Given the description of an element on the screen output the (x, y) to click on. 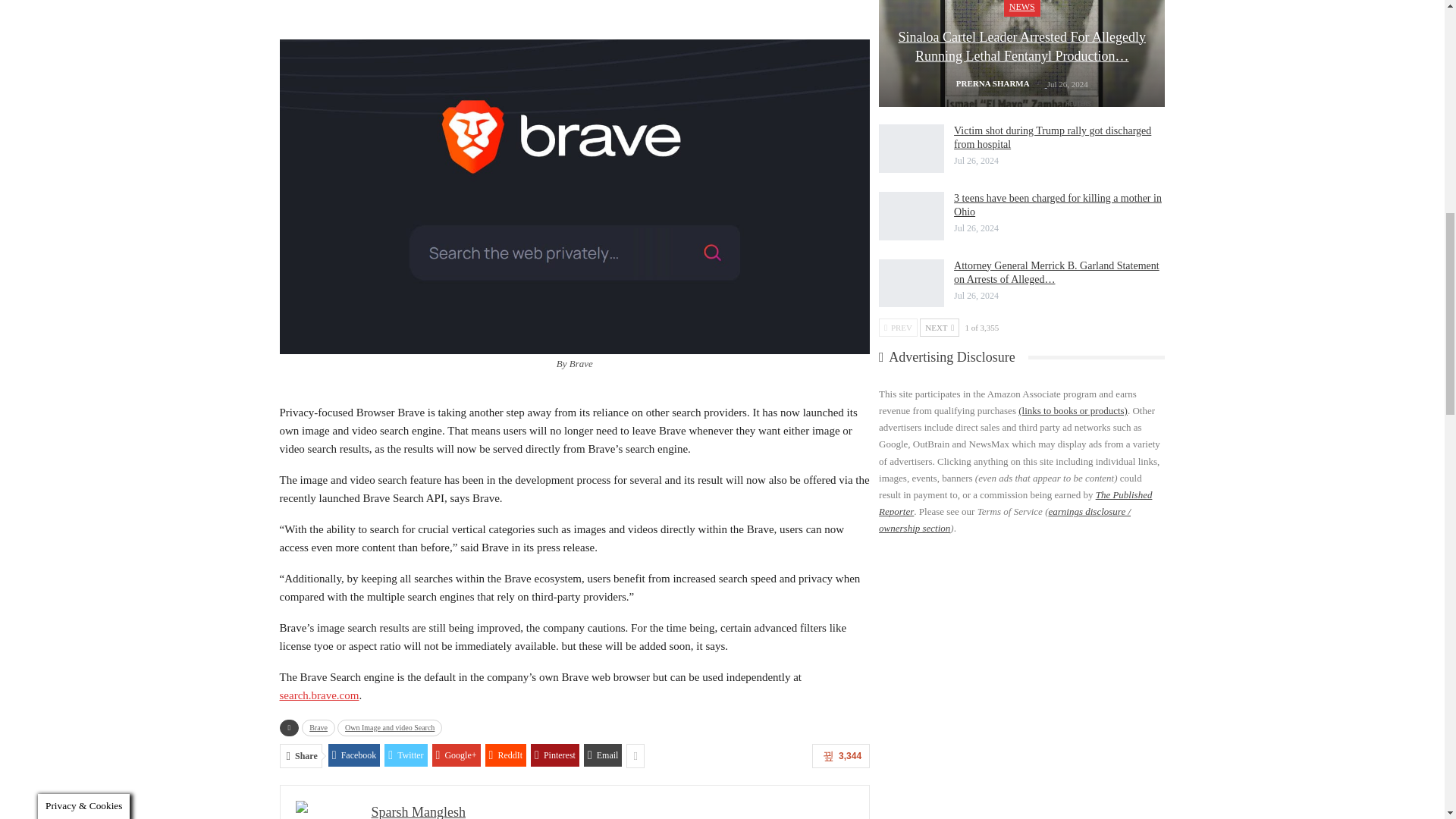
Advertisement (574, 9)
